Given the description of an element on the screen output the (x, y) to click on. 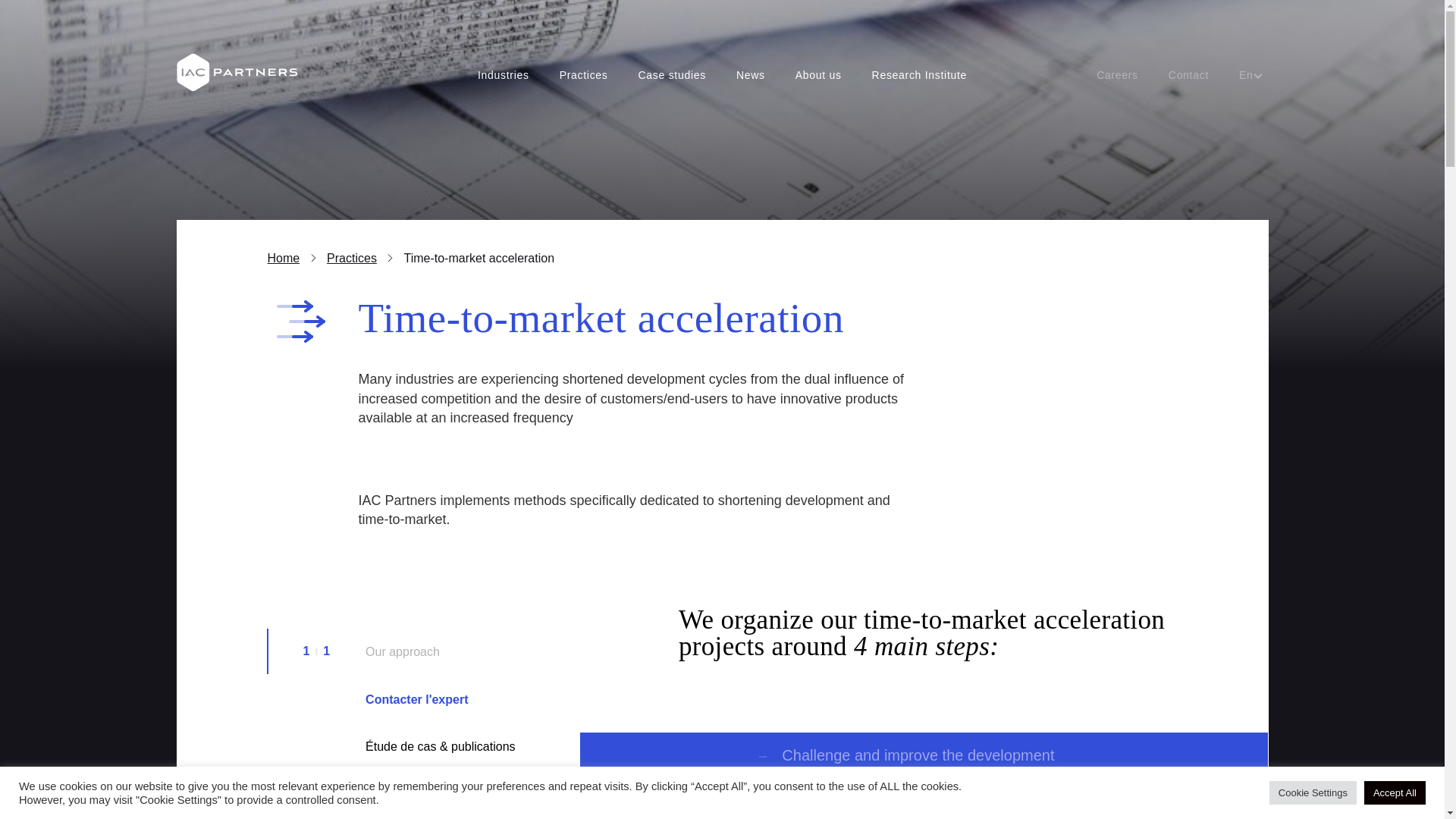
News (750, 73)
Our approach (402, 651)
Careers (1117, 73)
Contacter l'expert (416, 698)
Case studies (672, 73)
Research Institute (919, 73)
Practices (351, 257)
Home (282, 257)
En (1246, 74)
Practices (583, 73)
About us (817, 73)
Industries (503, 73)
Contact (1188, 73)
